Given the description of an element on the screen output the (x, y) to click on. 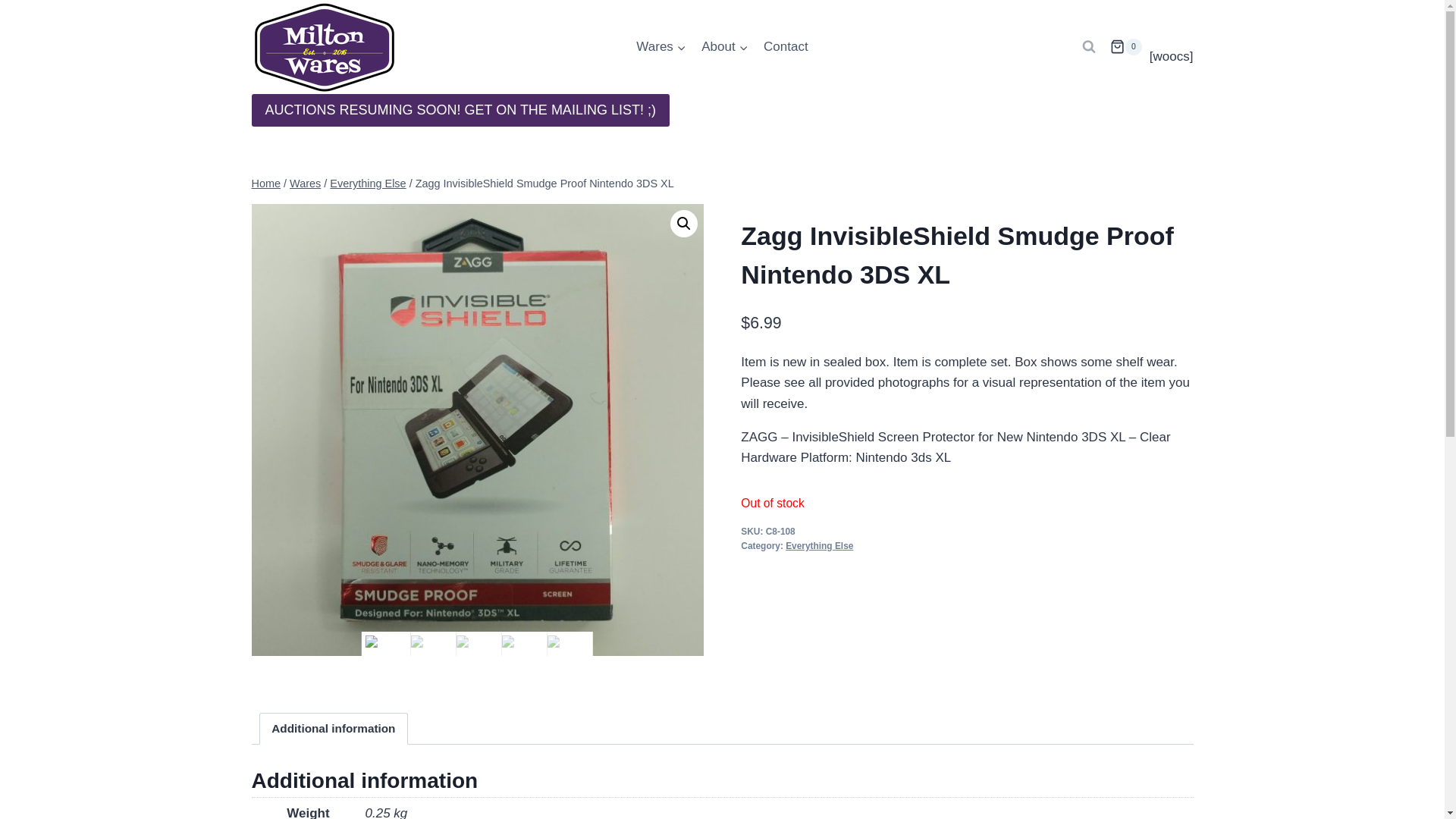
About (724, 46)
0 (1125, 46)
Home (266, 183)
Wares (661, 46)
Contact (785, 46)
